Given the description of an element on the screen output the (x, y) to click on. 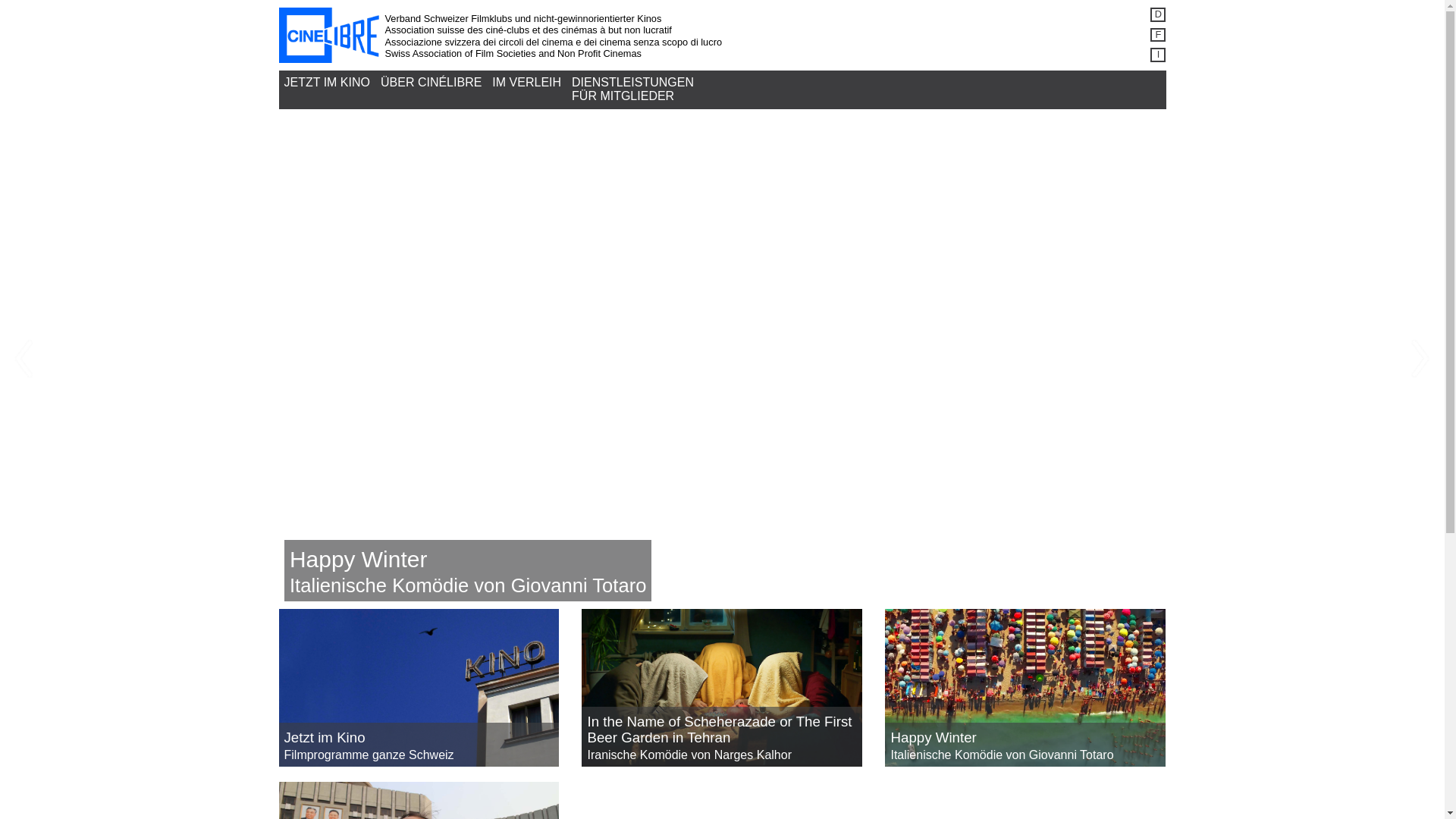
Jetzt im Kino Element type: text (323, 737)
I Element type: text (1157, 54)
D Element type: text (1157, 14)
Happy Winter Element type: text (932, 737)
JETZT IM KINO Element type: text (327, 82)
  Jetzt im Kino
Filmprogramme ganze Schweiz Element type: text (419, 687)
IM VERLEIH Element type: text (526, 82)
F Element type: text (1157, 35)
